Given the description of an element on the screen output the (x, y) to click on. 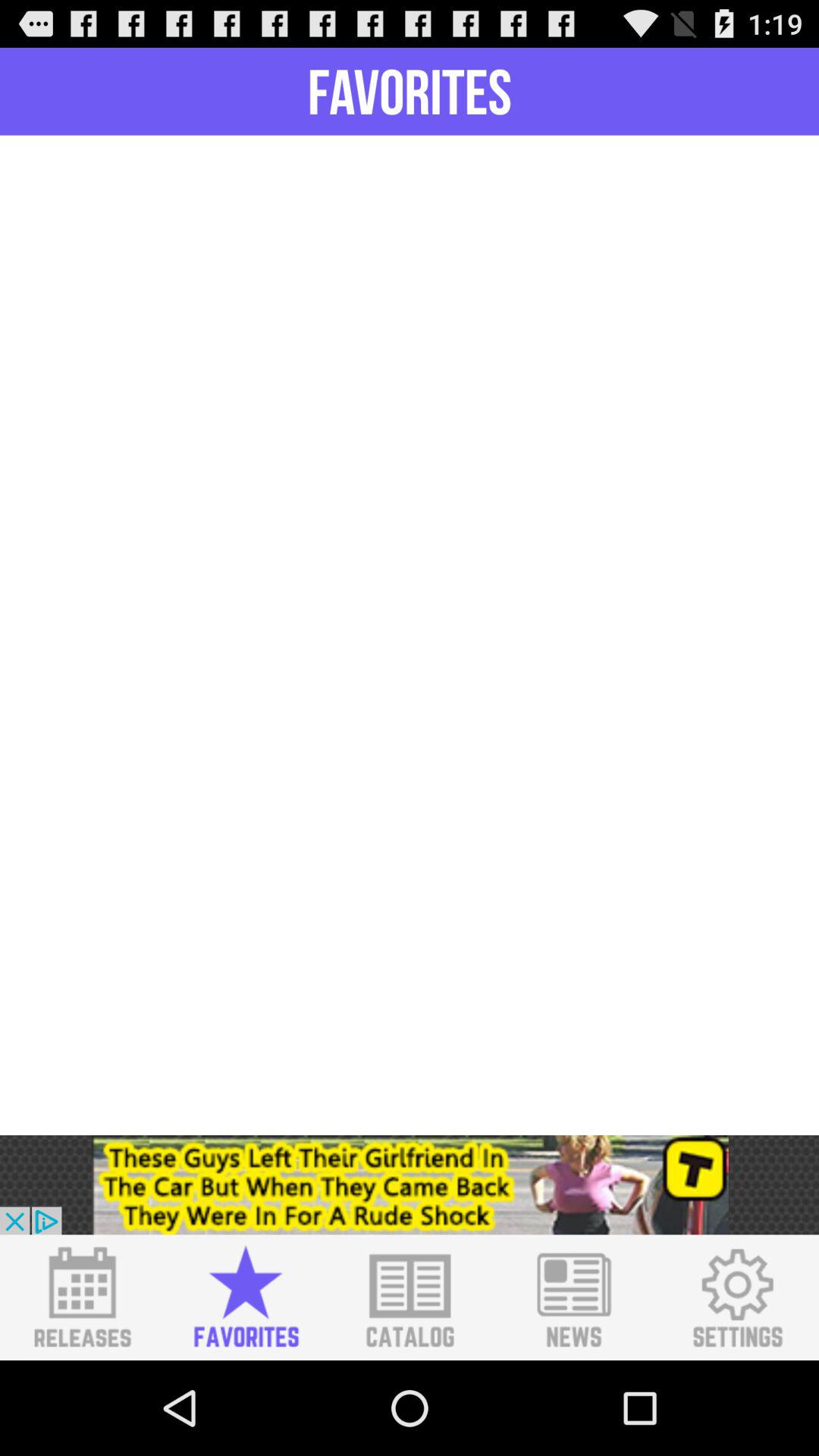
catlog button (409, 1297)
